Given the description of an element on the screen output the (x, y) to click on. 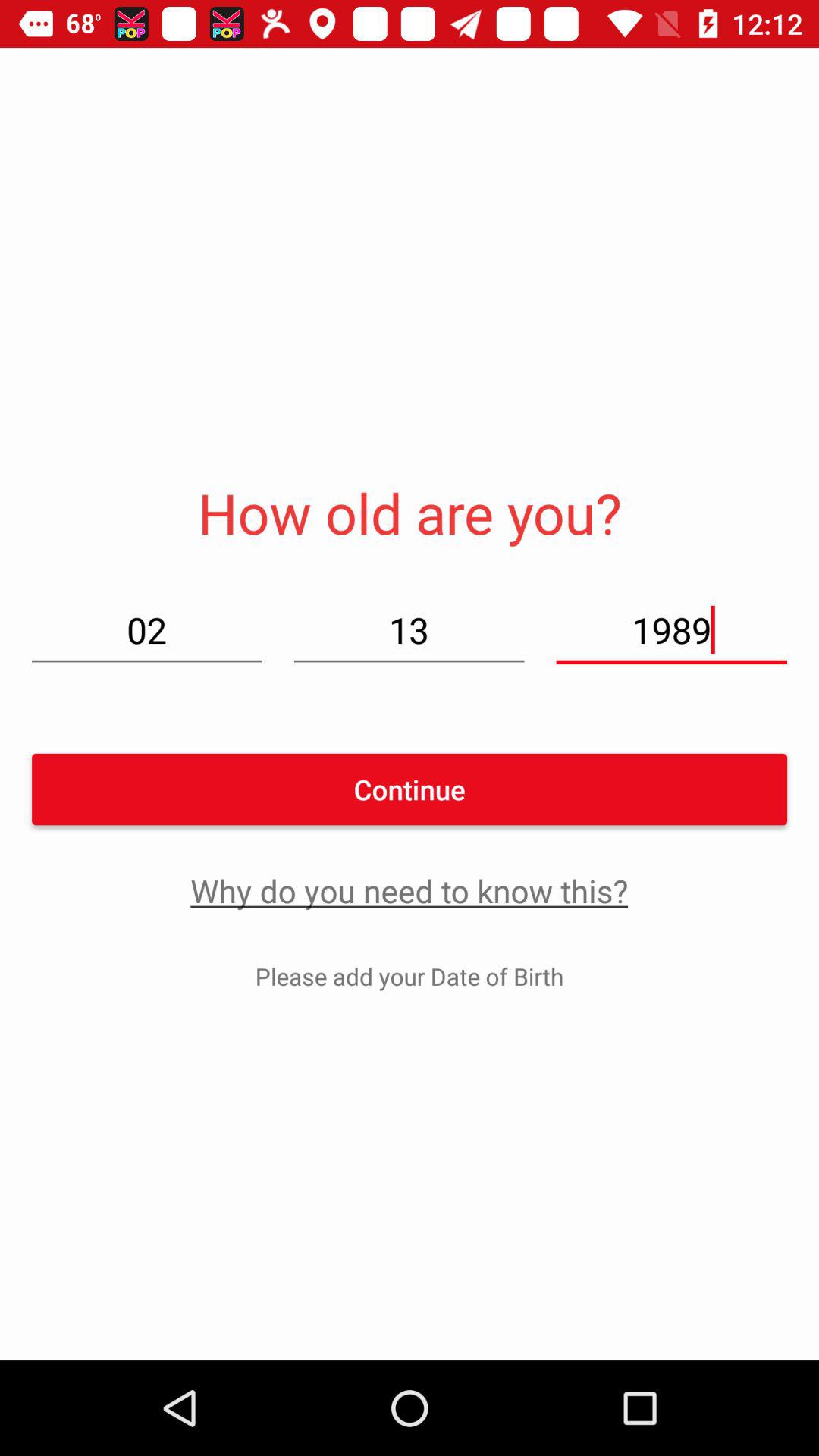
scroll to the why do you icon (408, 890)
